Given the description of an element on the screen output the (x, y) to click on. 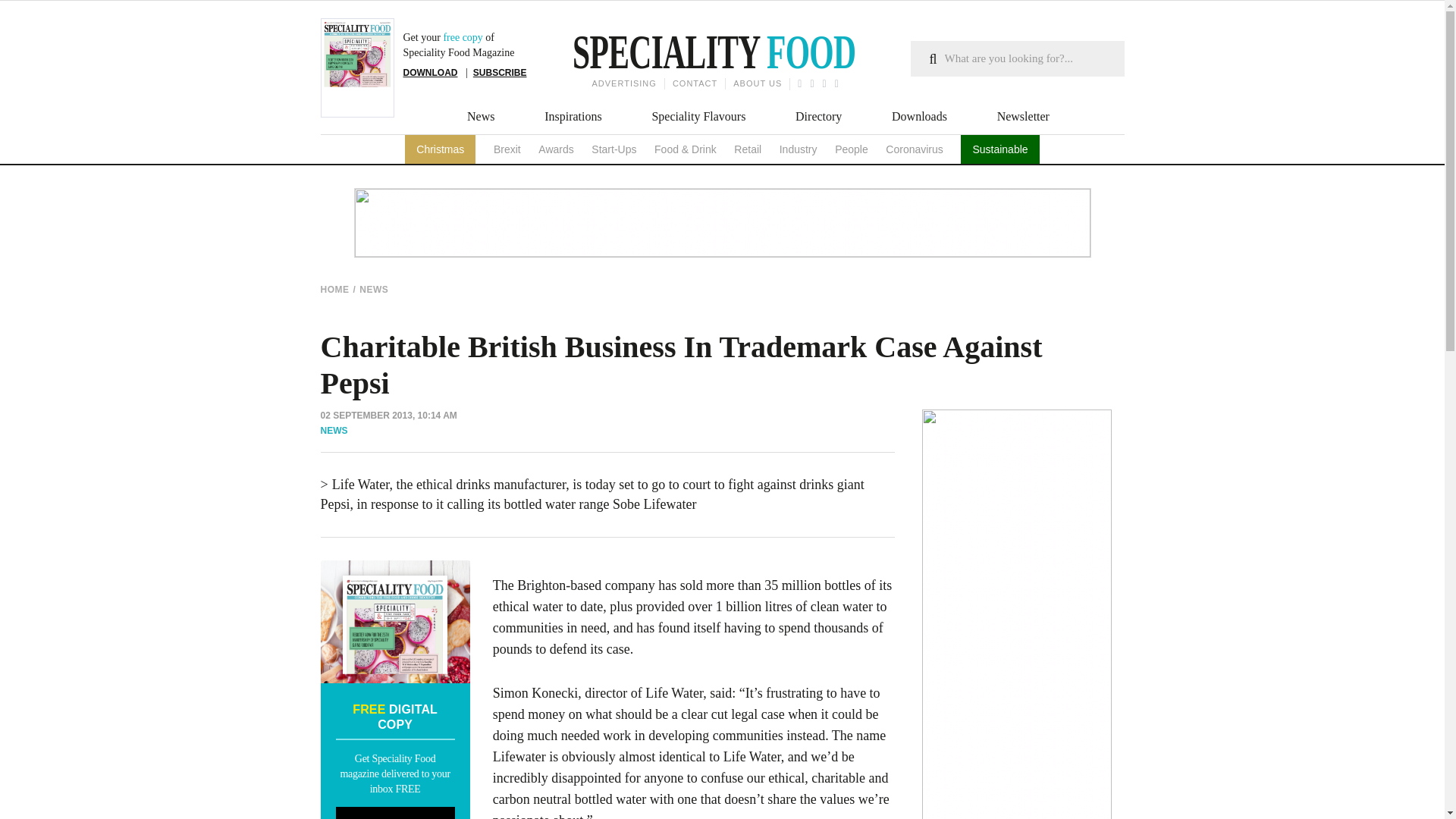
NEWS (375, 289)
Directory (817, 116)
sustainable (999, 149)
DOWNLOAD (430, 72)
Newsletter (1023, 116)
SUBSCRIBE (500, 72)
Awards (555, 149)
Start Ups (613, 149)
Inspirations (573, 116)
Newsletter (1023, 116)
